Given the description of an element on the screen output the (x, y) to click on. 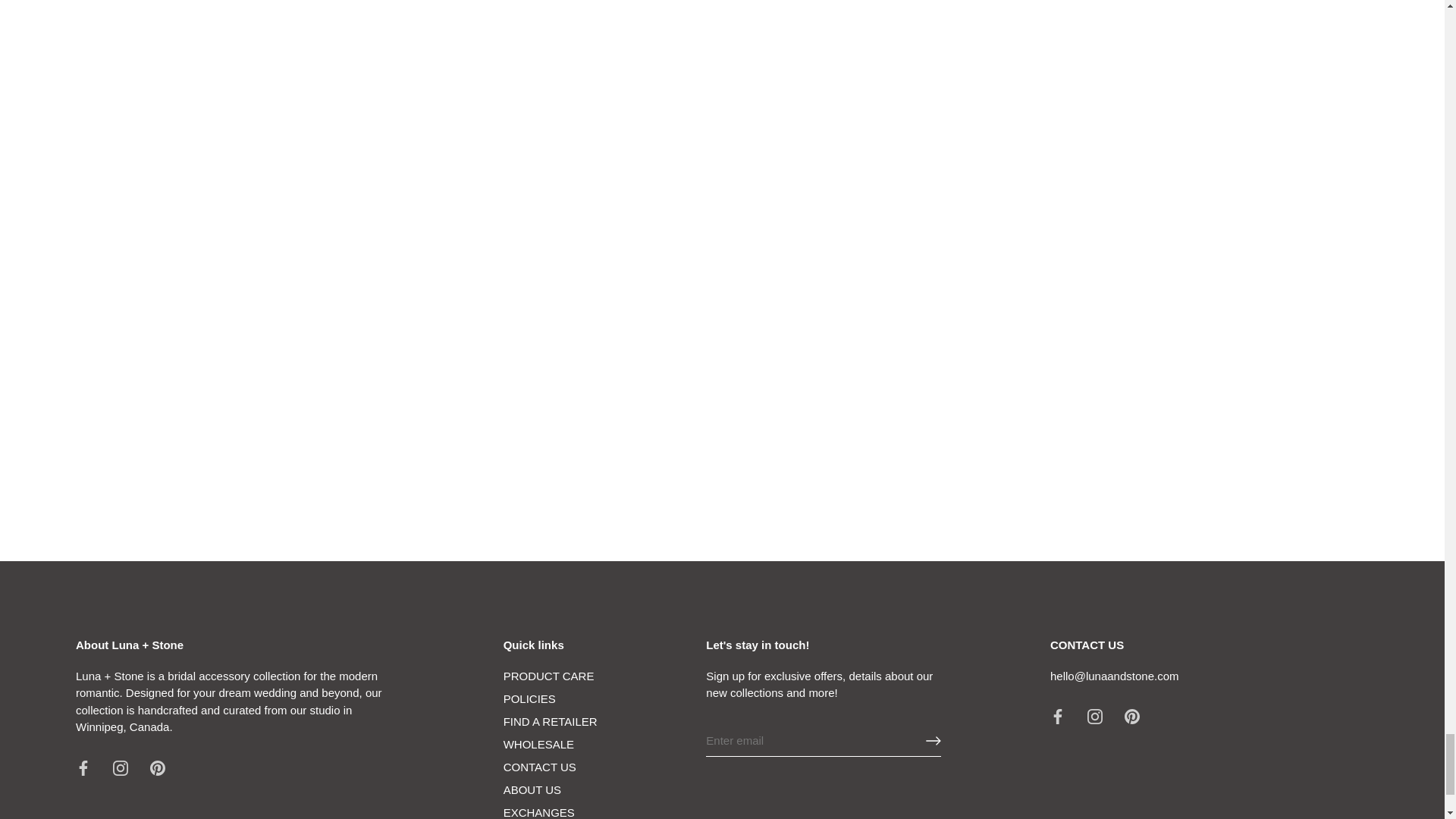
Pinterest (157, 767)
Instagram (120, 767)
Pinterest (1132, 716)
Instagram (1094, 716)
RIGHT ARROW LONG (933, 740)
